Given the description of an element on the screen output the (x, y) to click on. 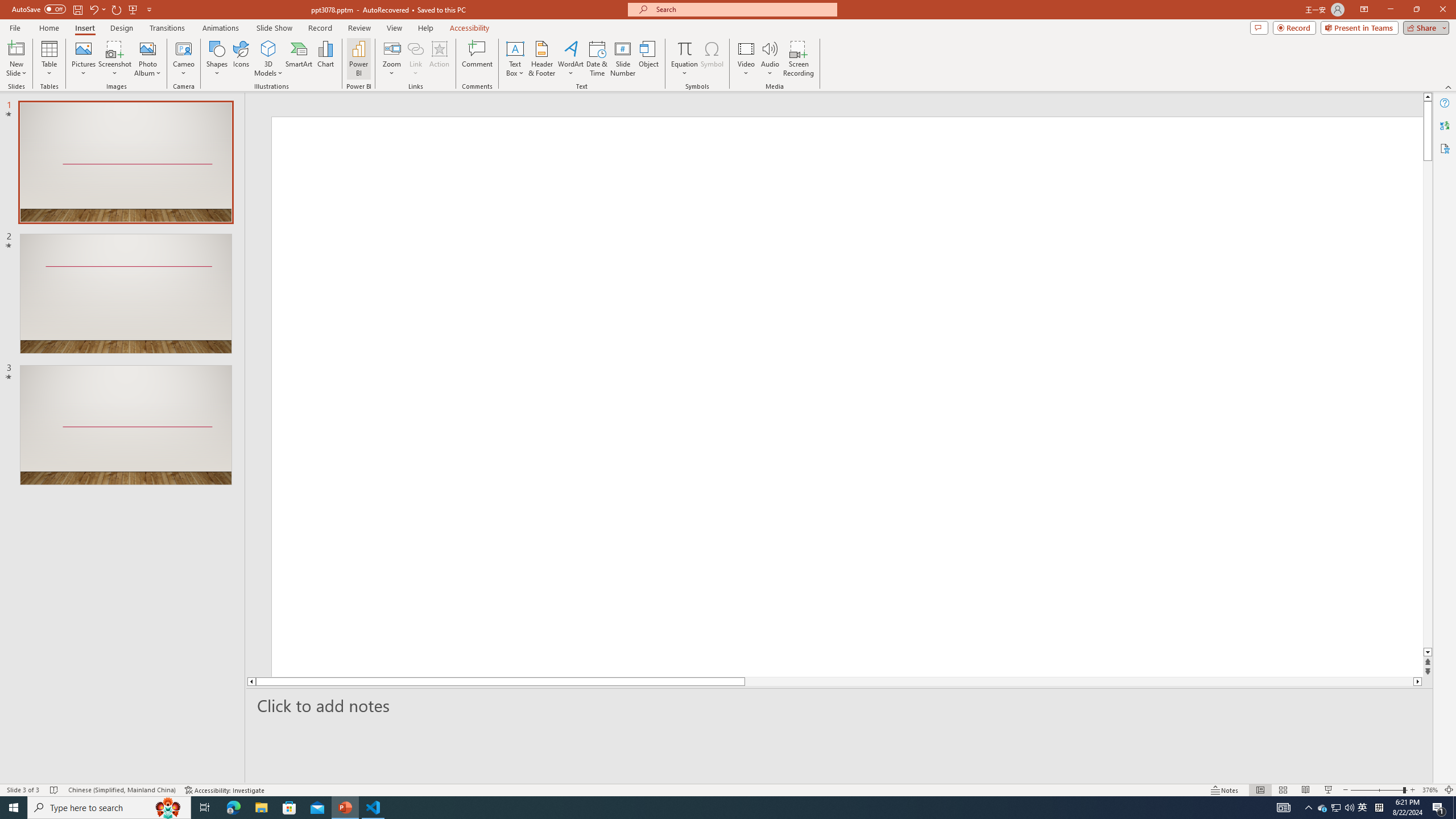
Screen Recording... (798, 58)
Link (415, 58)
Slide Notes (839, 705)
Accessibility (1444, 147)
An abstract genetic concept (834, 395)
Equation (683, 48)
Accessibility Checker Accessibility: Investigate (224, 790)
Zoom 376% (1430, 790)
